Given the description of an element on the screen output the (x, y) to click on. 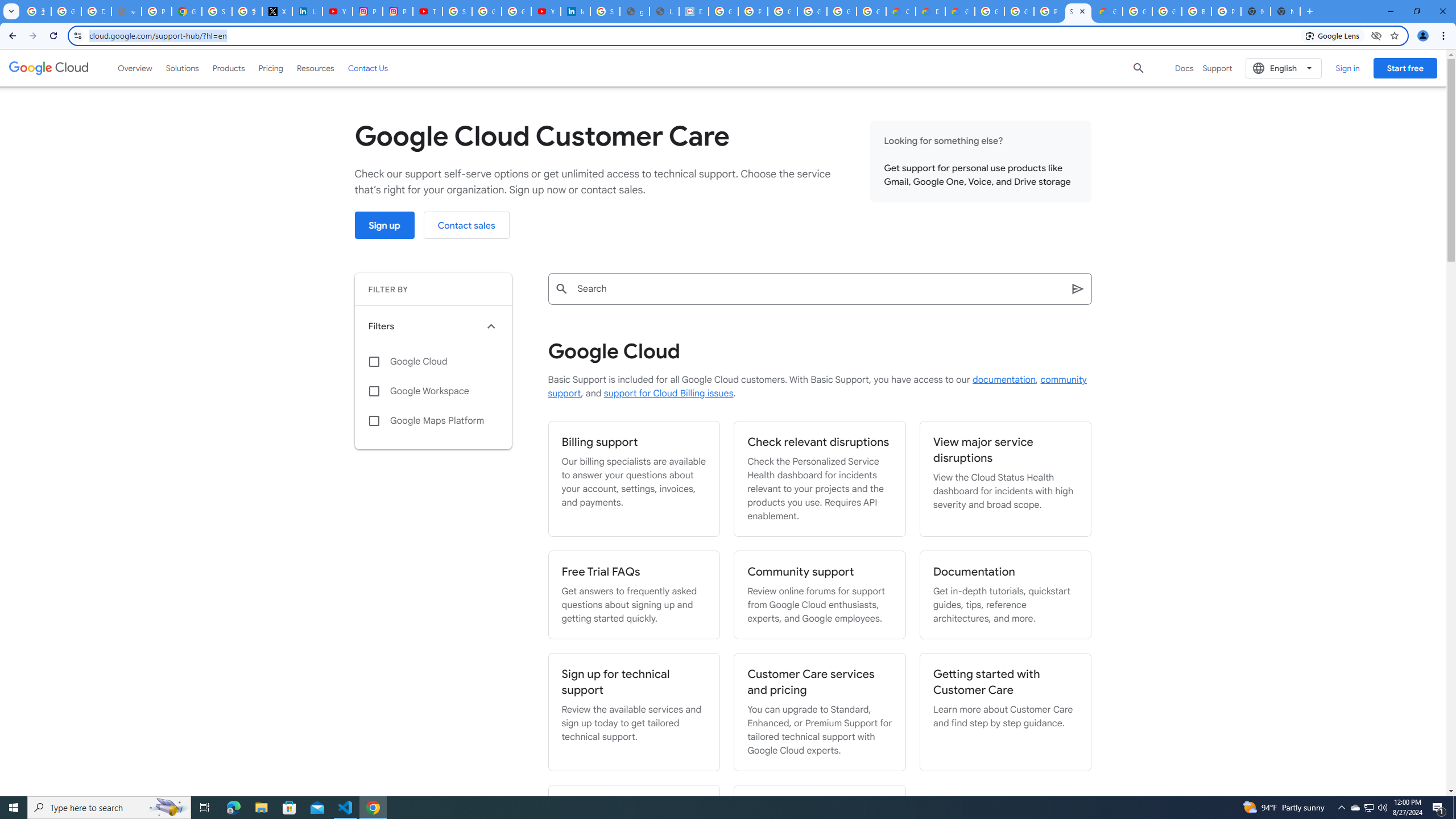
X (277, 11)
Data Privacy Framework (693, 11)
Contact sales (466, 225)
Google Cloud Platform (1166, 11)
Start free (1405, 67)
Sign up (383, 225)
Google Cloud Service Health (1107, 11)
Google Maps Platform (432, 420)
